Given the description of an element on the screen output the (x, y) to click on. 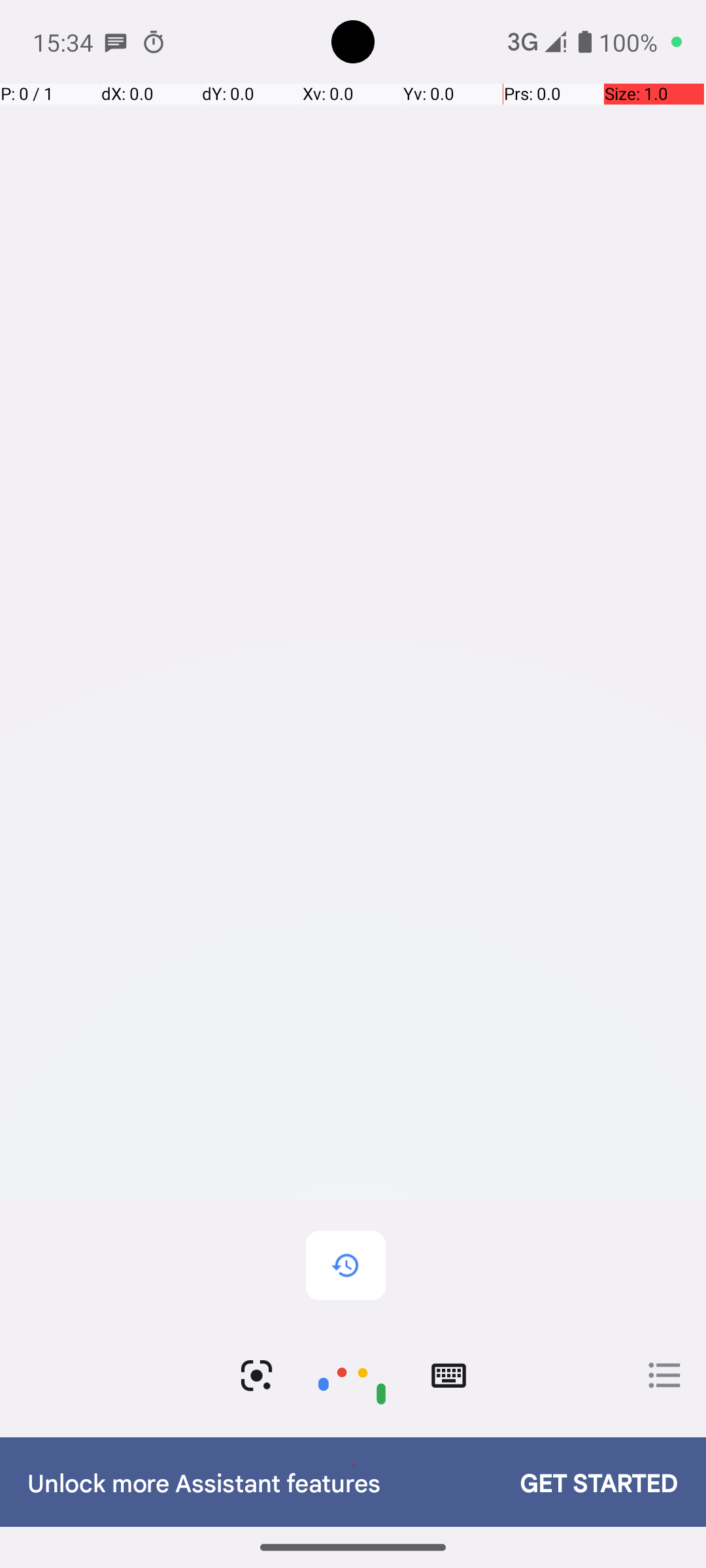
Voice search button, tap to speak Element type: android.view.View (351, 1375)
Unlock more Assistant features Element type: android.widget.TextView (259, 1481)
GET STARTED Element type: android.widget.TextView (585, 1481)
